Given the description of an element on the screen output the (x, y) to click on. 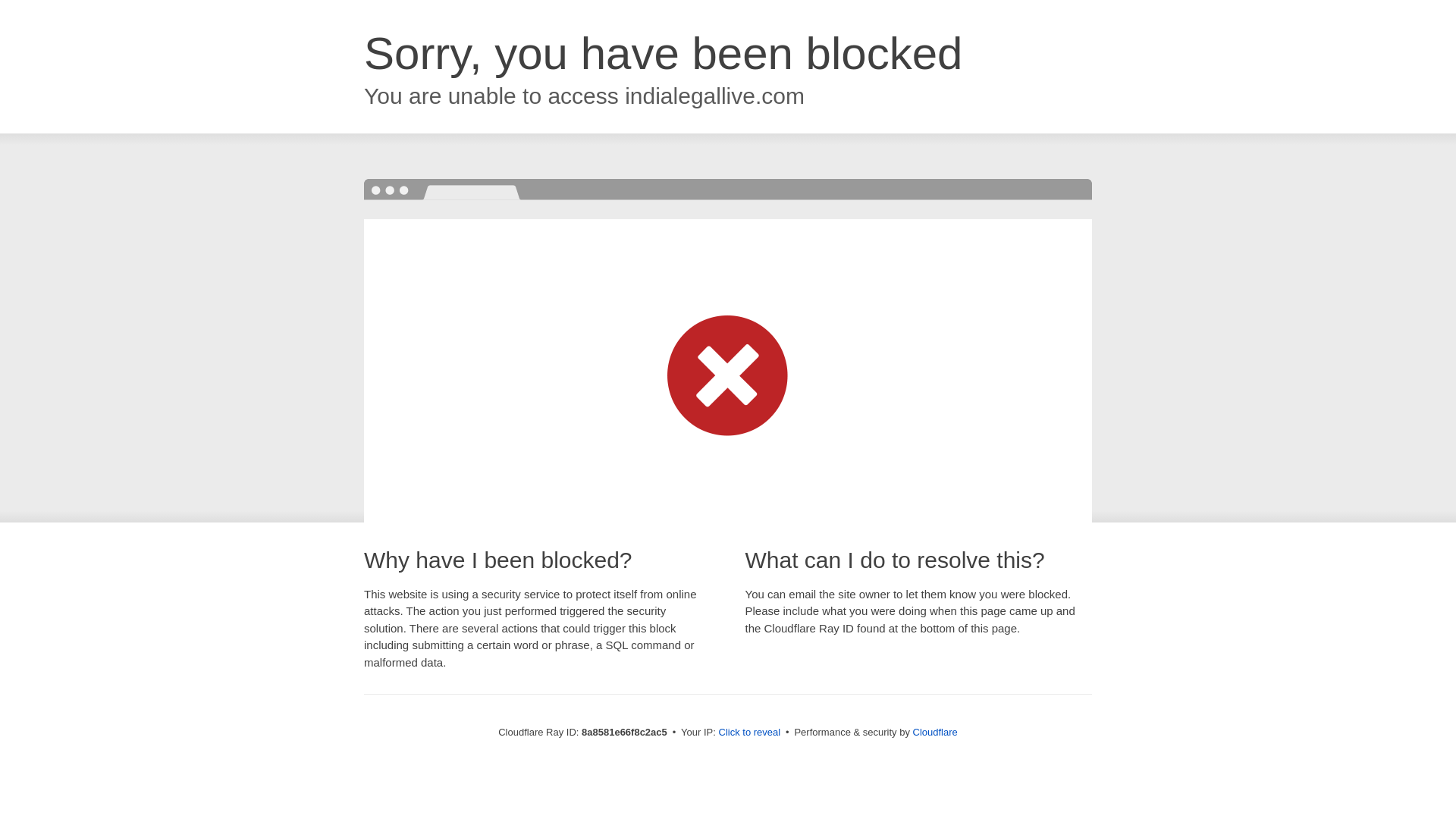
Click to reveal (749, 732)
Cloudflare (935, 731)
